Given the description of an element on the screen output the (x, y) to click on. 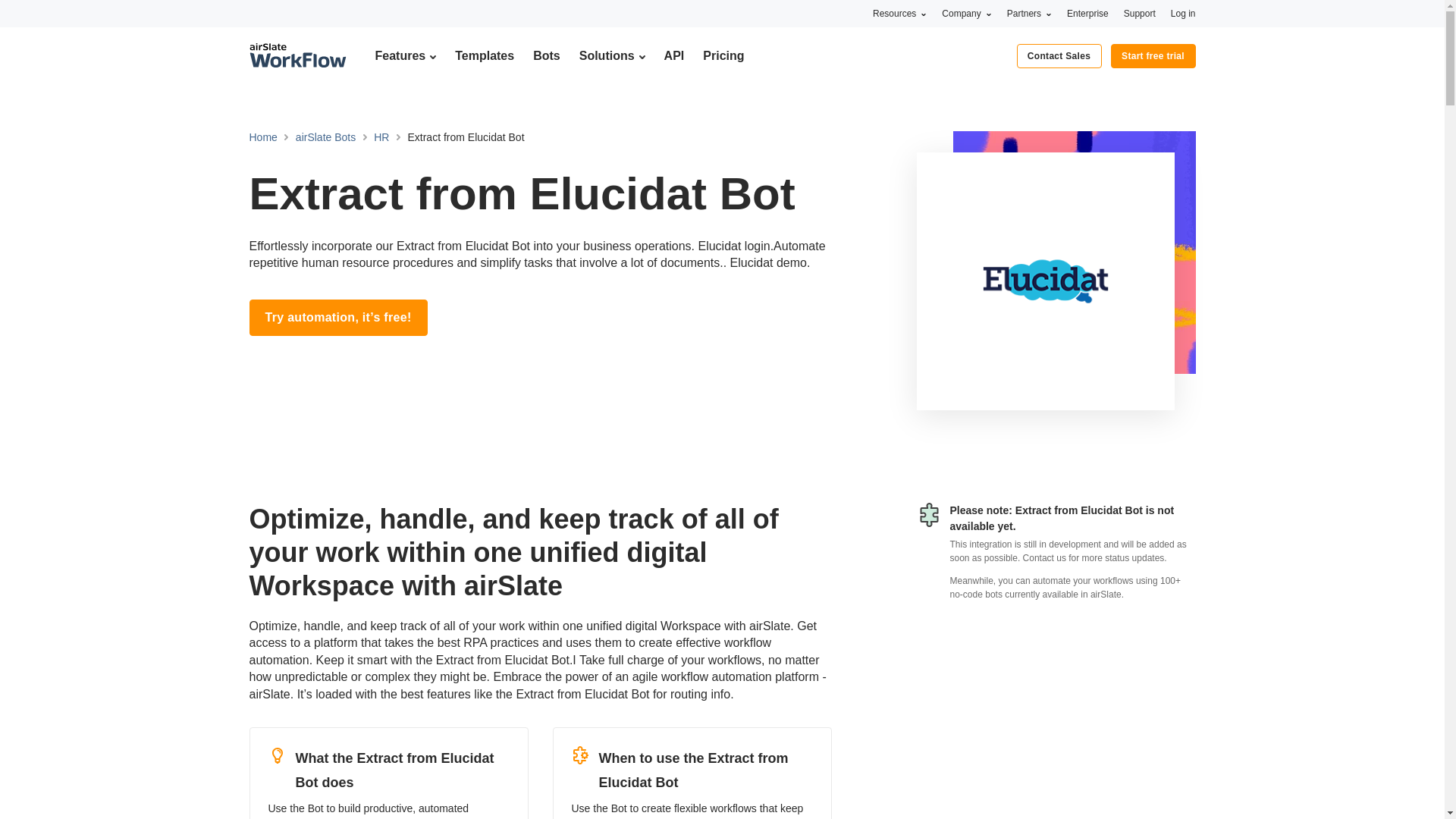
Partners (1029, 13)
Resources (899, 13)
Enterprise (1087, 13)
Templates (483, 55)
Support (1140, 13)
Log in (1182, 13)
Company (966, 13)
